Given the description of an element on the screen output the (x, y) to click on. 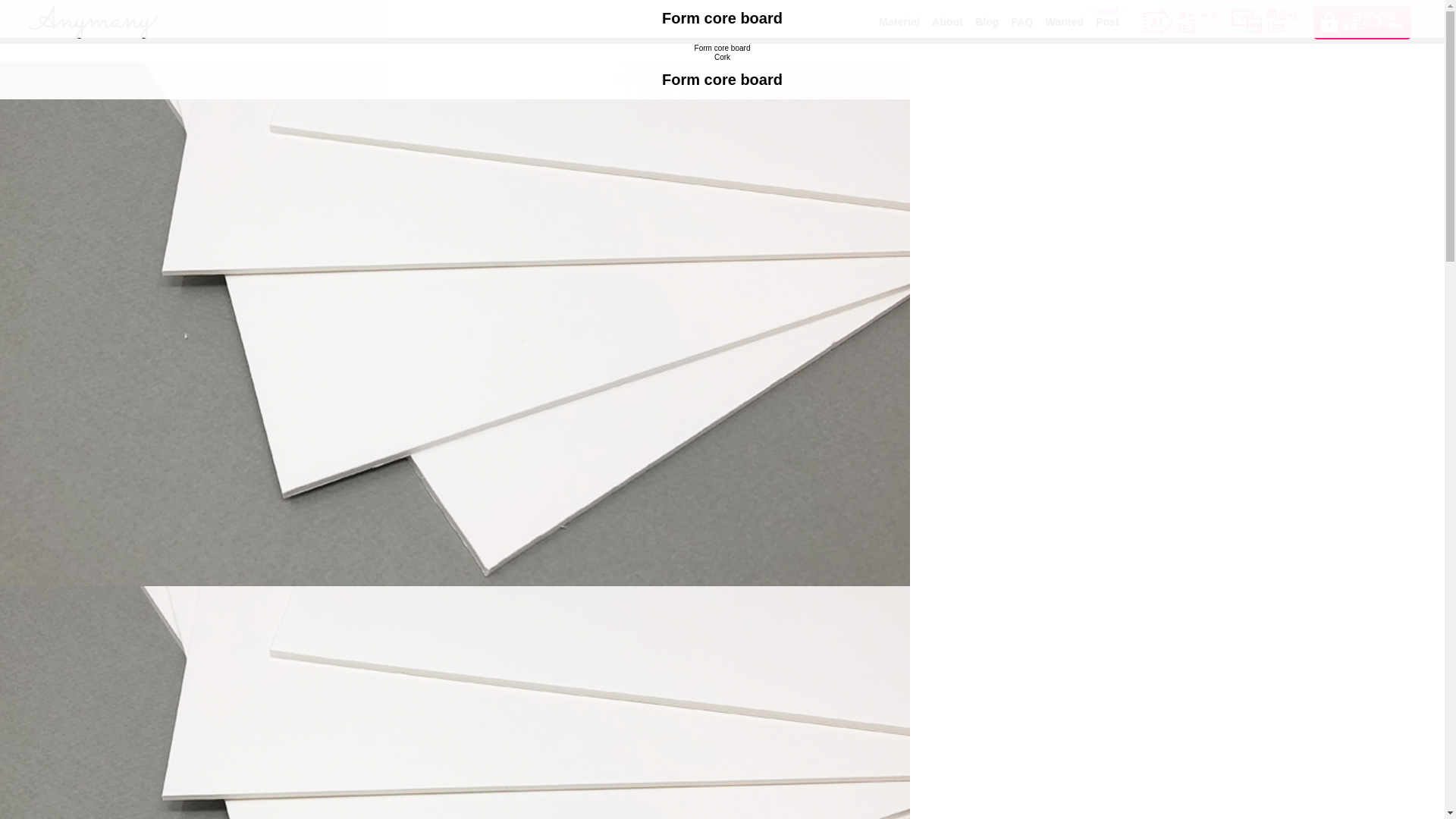
FAQ (1022, 21)
About (946, 21)
Cork (722, 57)
Form core board (722, 48)
Blog (1107, 21)
Wanted (986, 21)
Material (1064, 21)
